Given the description of an element on the screen output the (x, y) to click on. 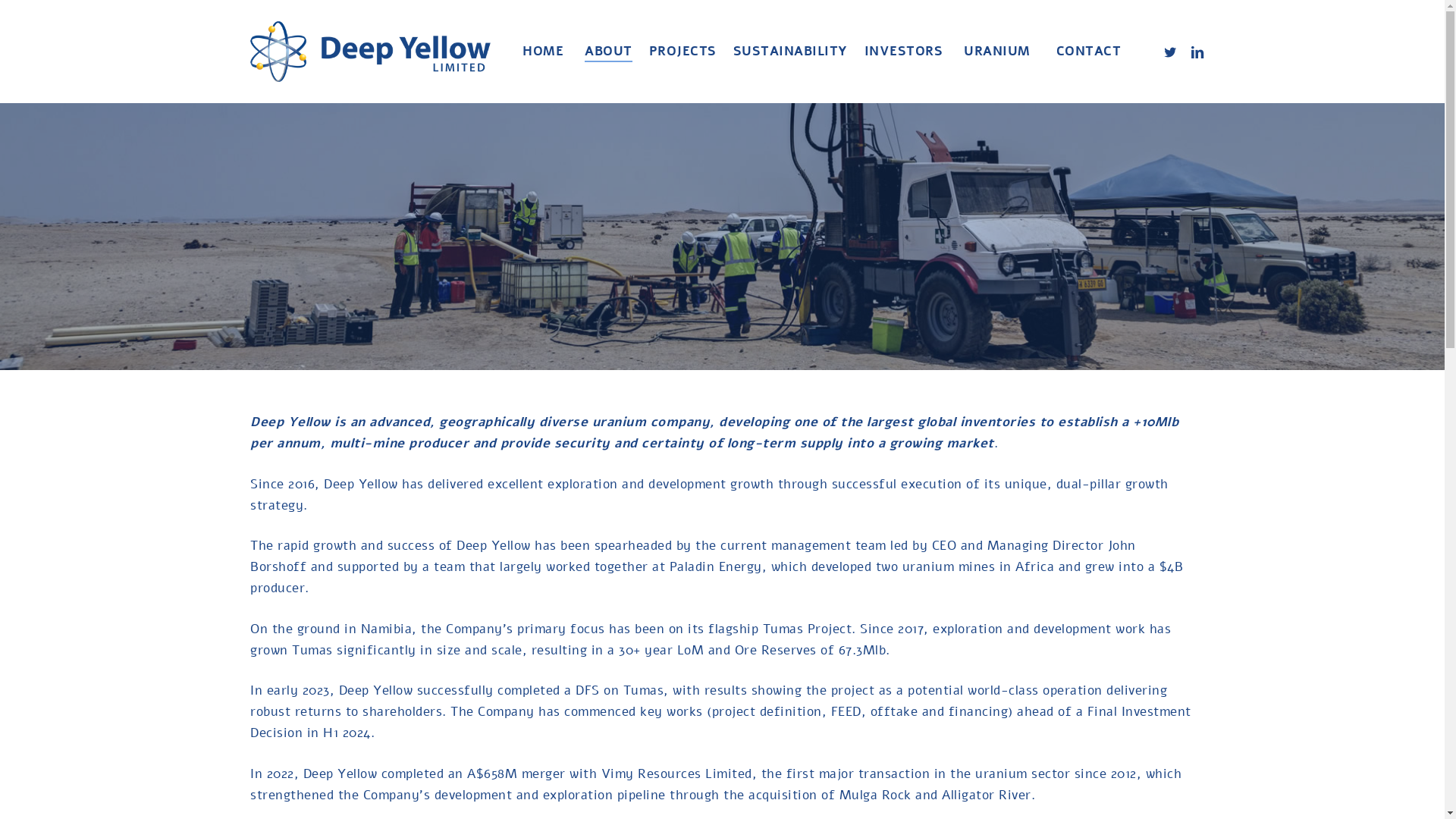
SUSTAINABILITY Element type: text (790, 51)
TWITTER Element type: text (1169, 51)
LINKEDIN Element type: text (1197, 51)
URANIUM Element type: text (996, 51)
INVESTORS Element type: text (903, 51)
HOME Element type: text (542, 51)
CONTACT Element type: text (1088, 51)
PROJECTS Element type: text (682, 51)
ABOUT Element type: text (608, 51)
